Given the description of an element on the screen output the (x, y) to click on. 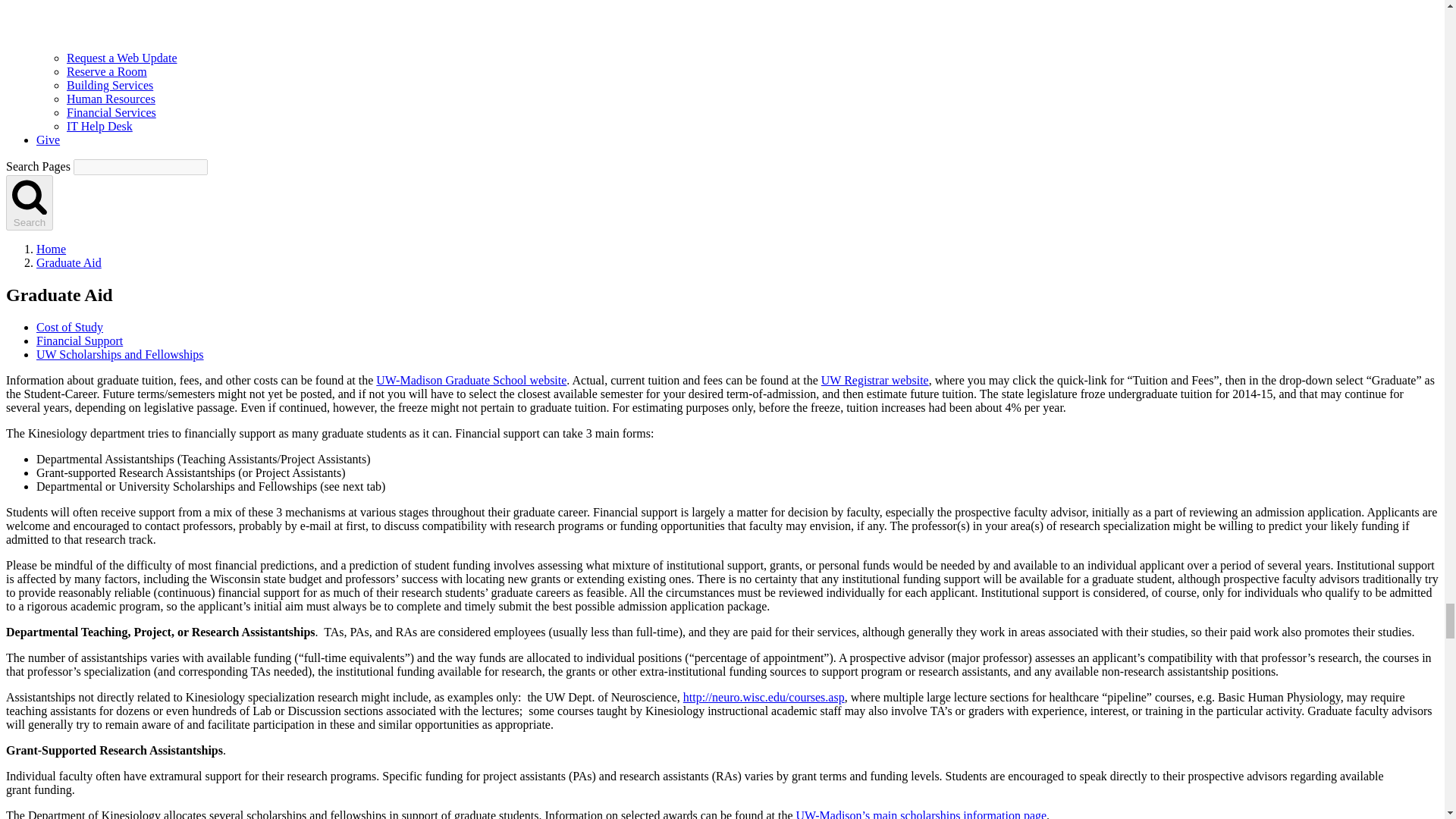
UW Registrar website (874, 379)
Give (47, 139)
UW-Madison Graduate School website (470, 379)
Graduate Aid (68, 262)
Graduate Aid (68, 262)
UW Scholarships and Fellowships (119, 354)
Financial Support (79, 340)
Human Resources (110, 98)
Request a Web Update (121, 57)
Home (50, 248)
Link to UW Registrar, including tuition chart (874, 379)
Reserve a Room (106, 71)
IT Help Desk (99, 125)
search (28, 195)
